Given the description of an element on the screen output the (x, y) to click on. 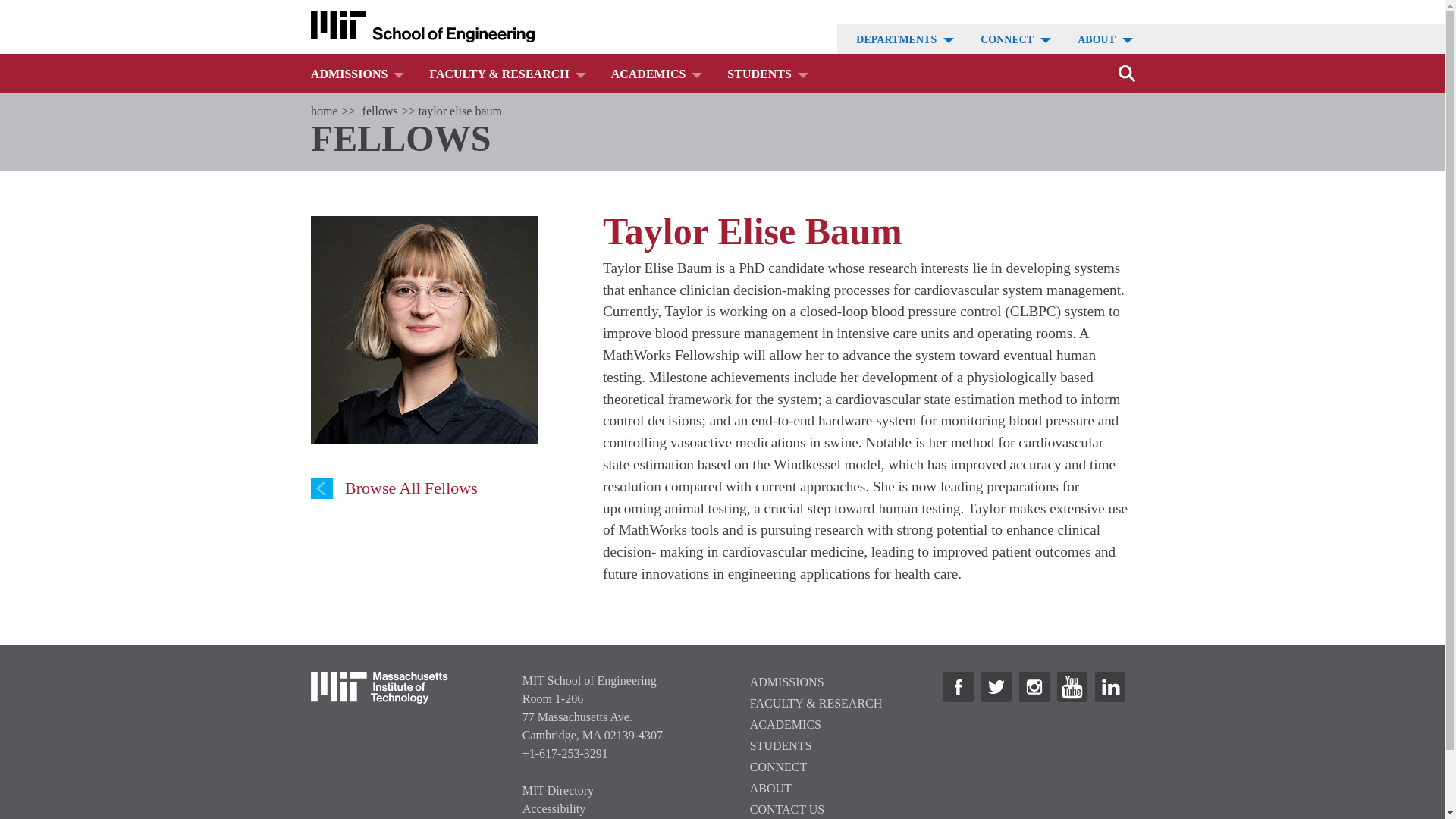
ABOUT (1095, 38)
DEPARTMENTS (895, 38)
Go to Fellows. (379, 110)
Go to MIT School of Engineering. (324, 110)
CONNECT (1005, 38)
